Given the description of an element on the screen output the (x, y) to click on. 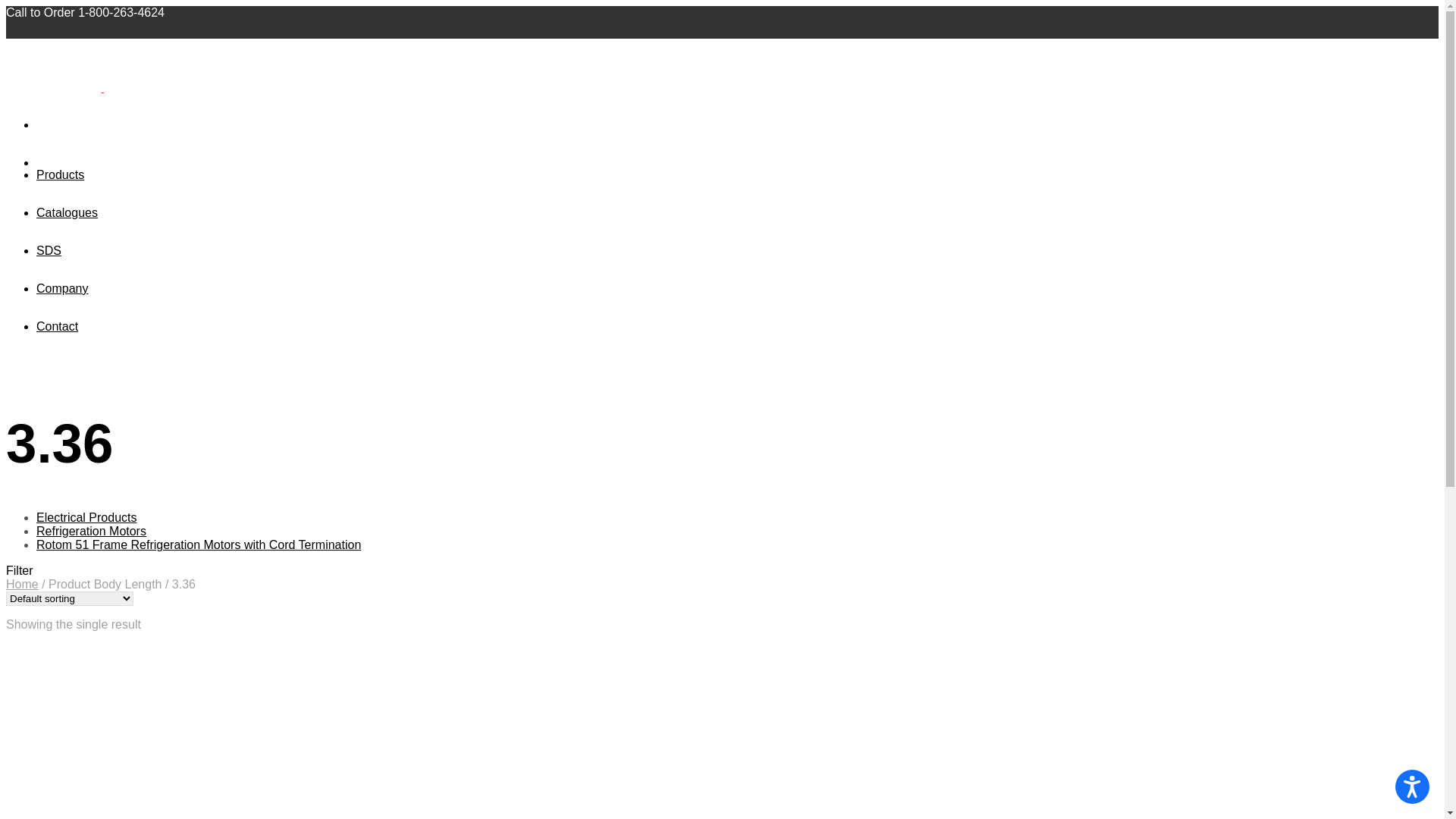
Catalogues Element type: text (66, 212)
Refrigeration Motors Element type: text (91, 530)
A DiversiTech Company Element type: hover (53, 72)
Contact Element type: text (57, 326)
SDS Element type: text (48, 250)
Company Element type: text (61, 288)
A DiversiTech Company Element type: hover (151, 72)
Home Element type: text (22, 583)
Electrical Products Element type: text (86, 517)
Rotom 51 Frame Refrigeration Motors with Cord Termination Element type: text (198, 544)
Products Element type: text (60, 174)
